Given the description of an element on the screen output the (x, y) to click on. 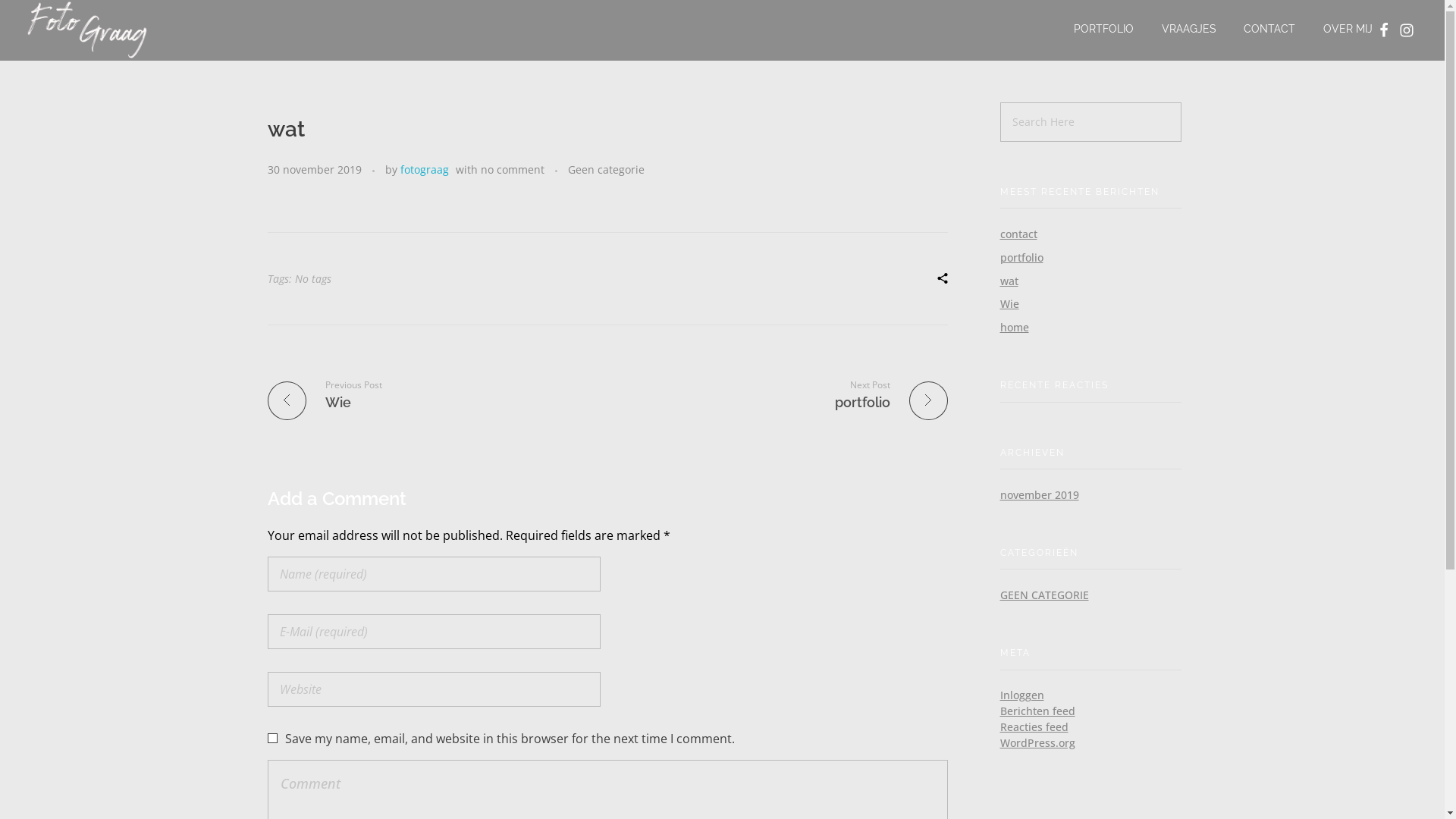
wat Element type: text (1008, 280)
fotograag Element type: text (424, 169)
contact Element type: text (1017, 233)
Wie Element type: text (1008, 303)
GEEN CATEGORIE Element type: text (1043, 594)
OVER MIJ Element type: text (1340, 29)
home Element type: text (1013, 327)
CONTACT Element type: text (1269, 29)
portfolio Element type: text (1020, 257)
Inloggen Element type: text (1021, 694)
Geen categorie Element type: text (605, 169)
Search Element type: text (39, 13)
Previous Post
Wie Element type: text (430, 394)
Reacties feed Element type: text (1033, 726)
PORTFOLIO Element type: text (1110, 29)
WordPress.org Element type: text (1036, 742)
VRAAGJES Element type: text (1188, 29)
Berichten feed Element type: text (1036, 710)
november 2019 Element type: text (1038, 494)
Next Post
portfolio Element type: text (783, 394)
